Given the description of an element on the screen output the (x, y) to click on. 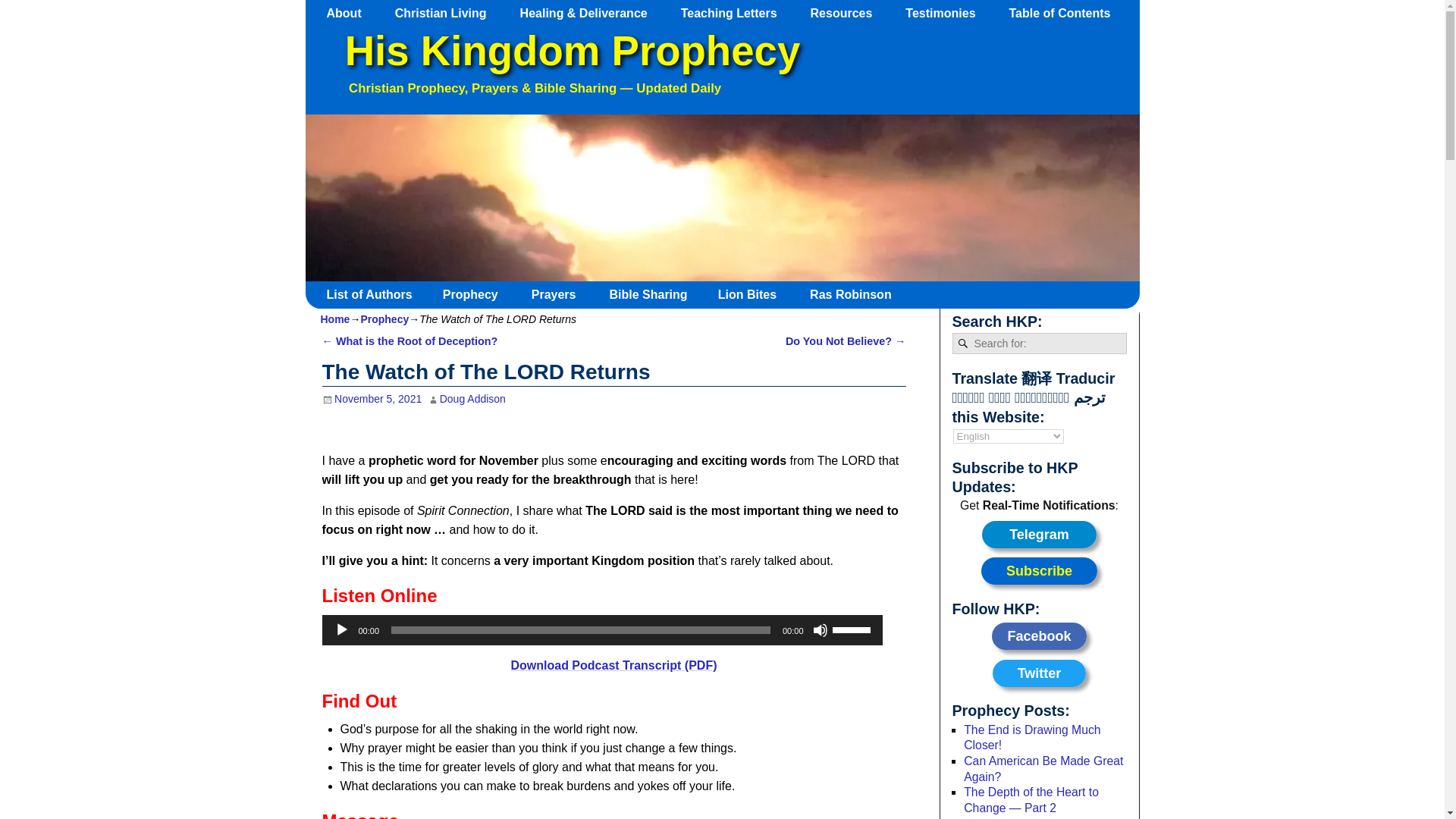
Teaching Letters (736, 13)
View all posts by Doug Addison (472, 398)
About (351, 13)
His Kingdom Prophecy (571, 50)
List of Authors (374, 294)
11:58 pm (371, 398)
Play (341, 630)
Resources (849, 13)
His Kingdom Prophecy (571, 50)
Testimonies (947, 13)
Christian Living (448, 13)
Table of Contents (1066, 13)
Mute (820, 630)
